Given the description of an element on the screen output the (x, y) to click on. 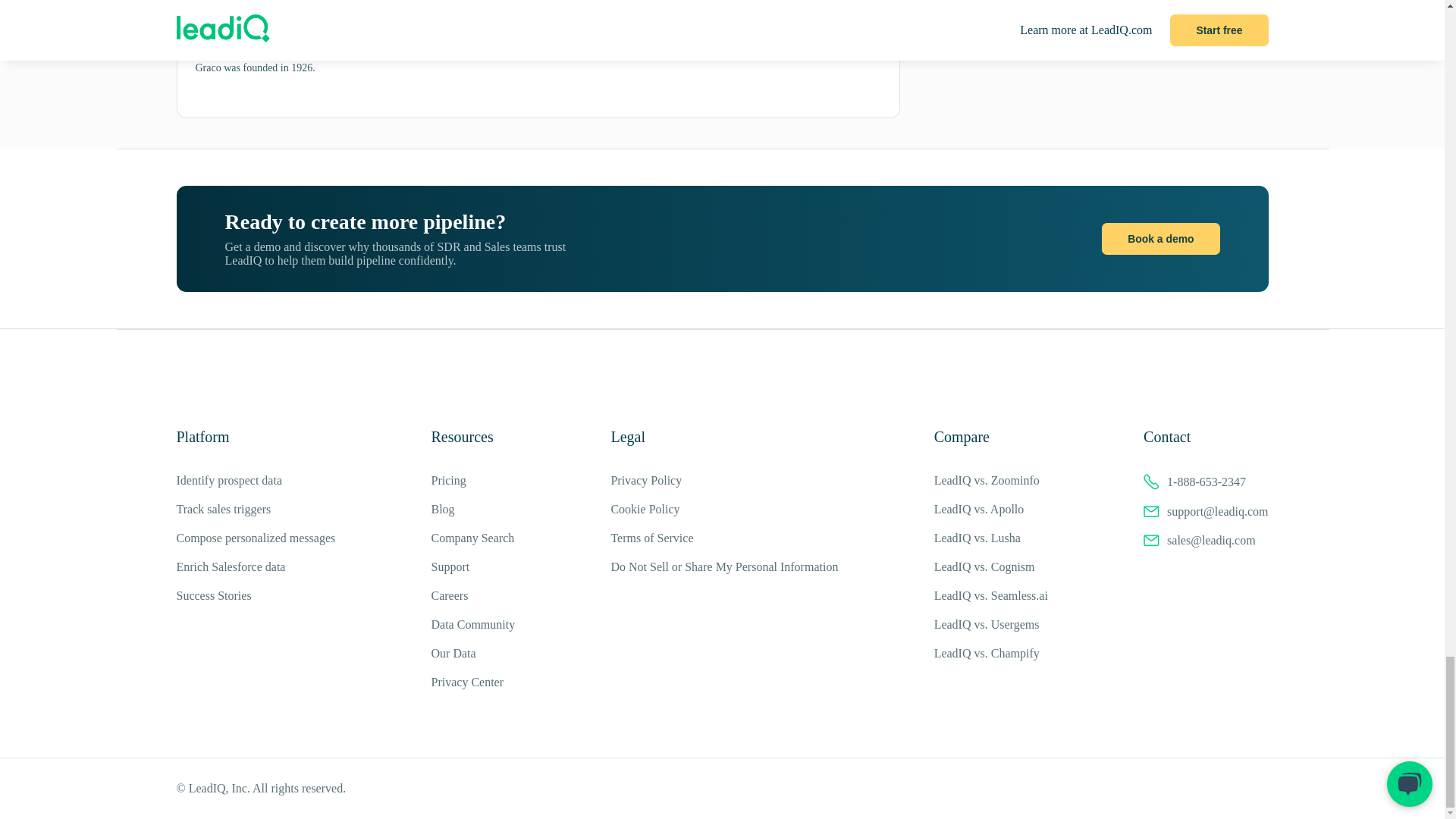
Find more Graco email formats (493, 1)
